Given the description of an element on the screen output the (x, y) to click on. 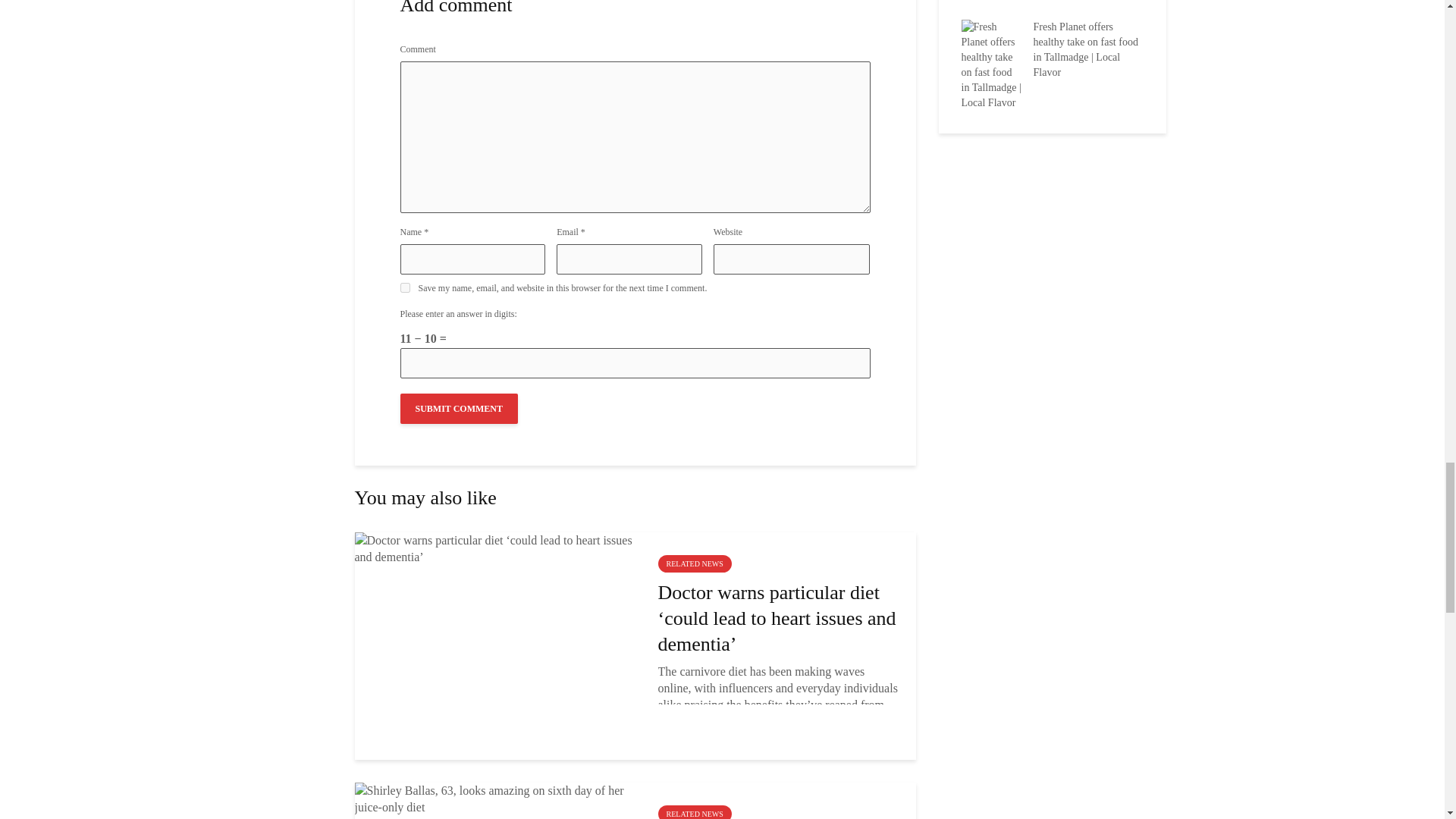
yes (405, 287)
Submit Comment (459, 408)
